Given the description of an element on the screen output the (x, y) to click on. 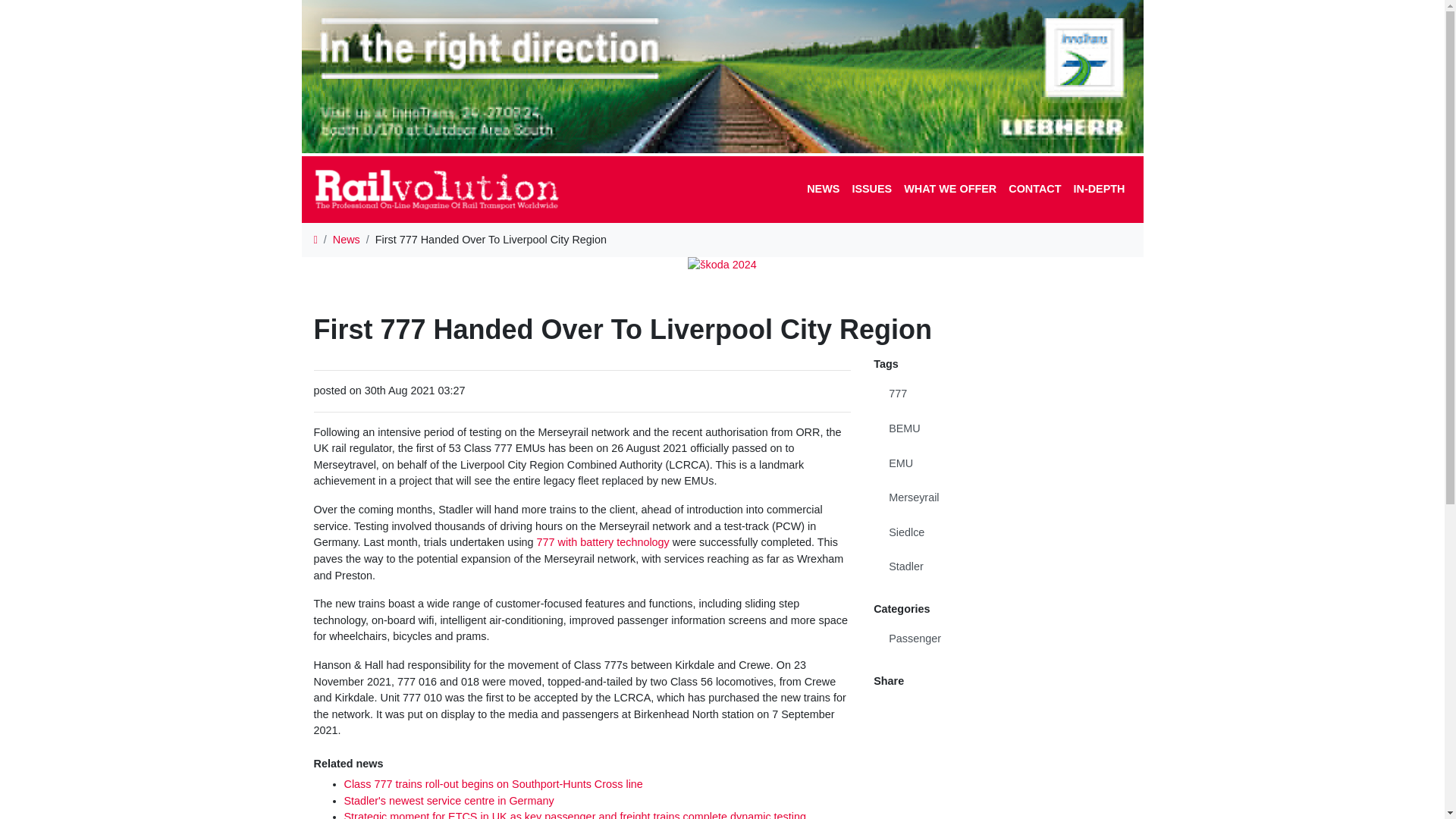
CONTACT (1035, 189)
Siedlce (1002, 532)
777 with battery technology (603, 541)
Passenger (1002, 638)
ISSUES (871, 189)
IN-DEPTH (1099, 189)
Stadler's newest service centre in Germany (448, 800)
WHAT WE OFFER (950, 189)
